Given the description of an element on the screen output the (x, y) to click on. 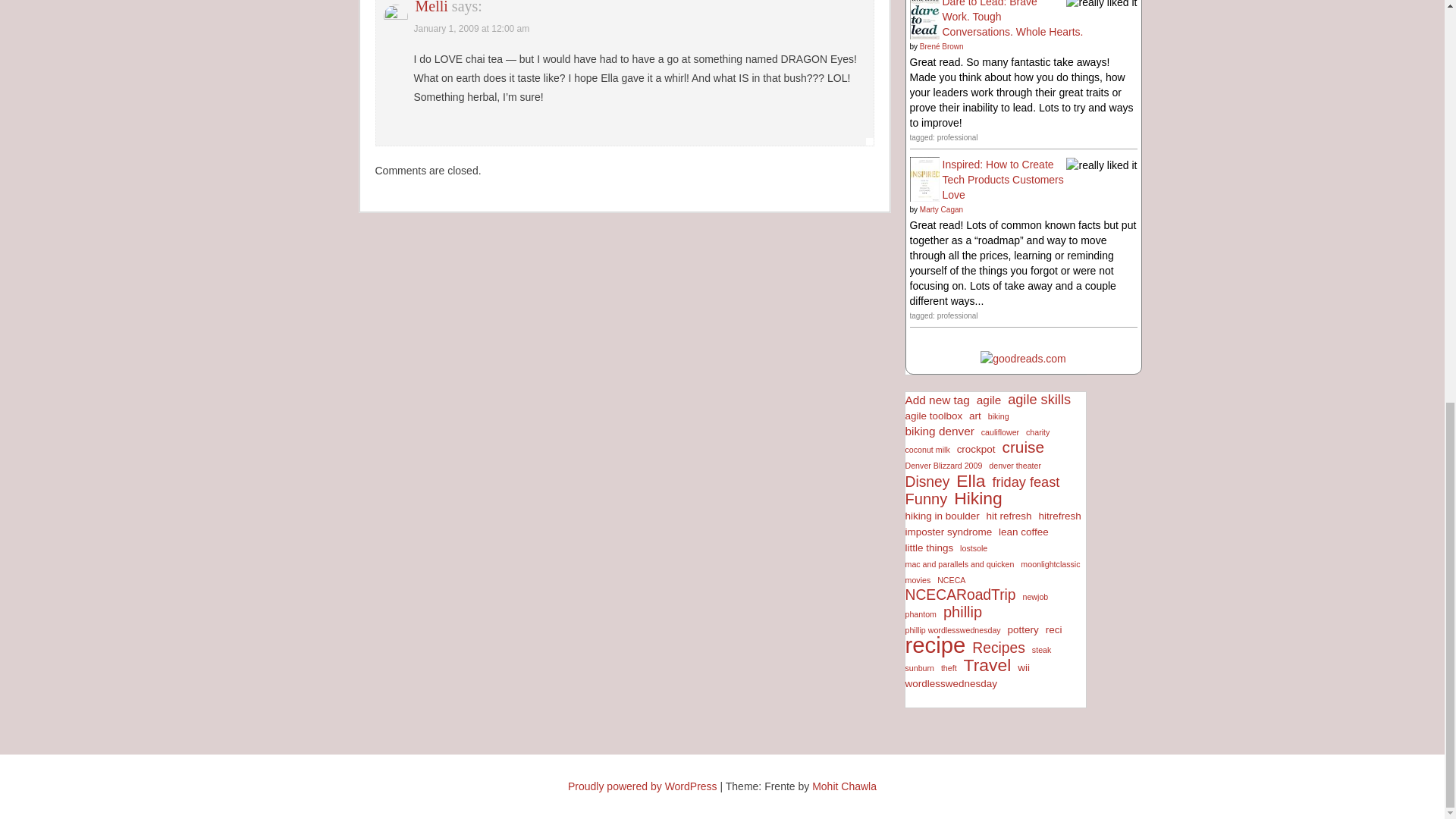
Dare to Lead: Brave Work. Tough Conversations. Whole Hearts. (924, 15)
Dare to Lead: Brave Work. Tough Conversations. Whole Hearts. (1012, 18)
January 1, 2009 at 12:00 am (471, 28)
really liked it (1101, 3)
Inspired: How to Create Tech Products Customers Love (924, 177)
Melli (431, 7)
